Given the description of an element on the screen output the (x, y) to click on. 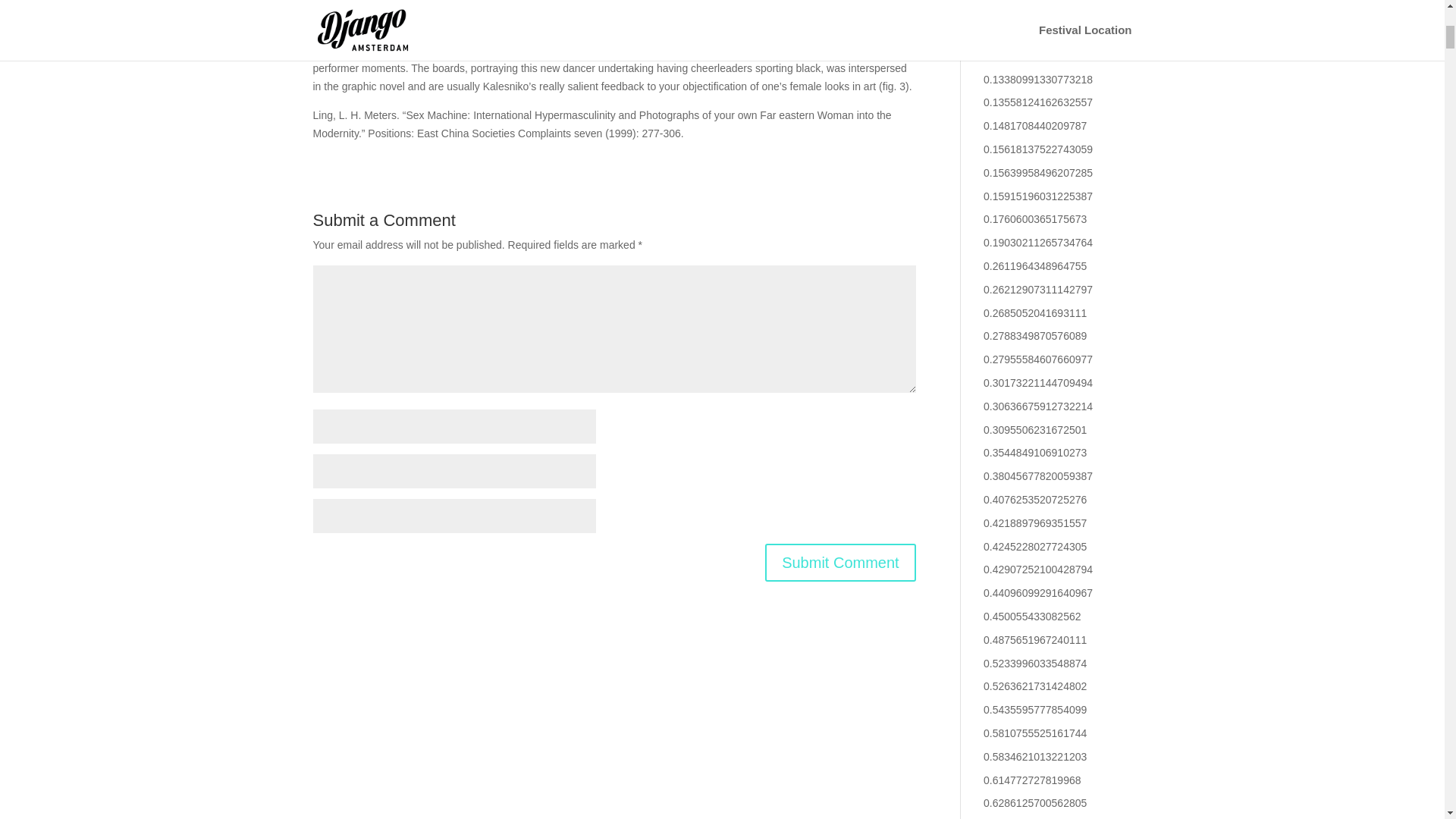
Submit Comment (840, 562)
Submit Comment (840, 562)
